Given the description of an element on the screen output the (x, y) to click on. 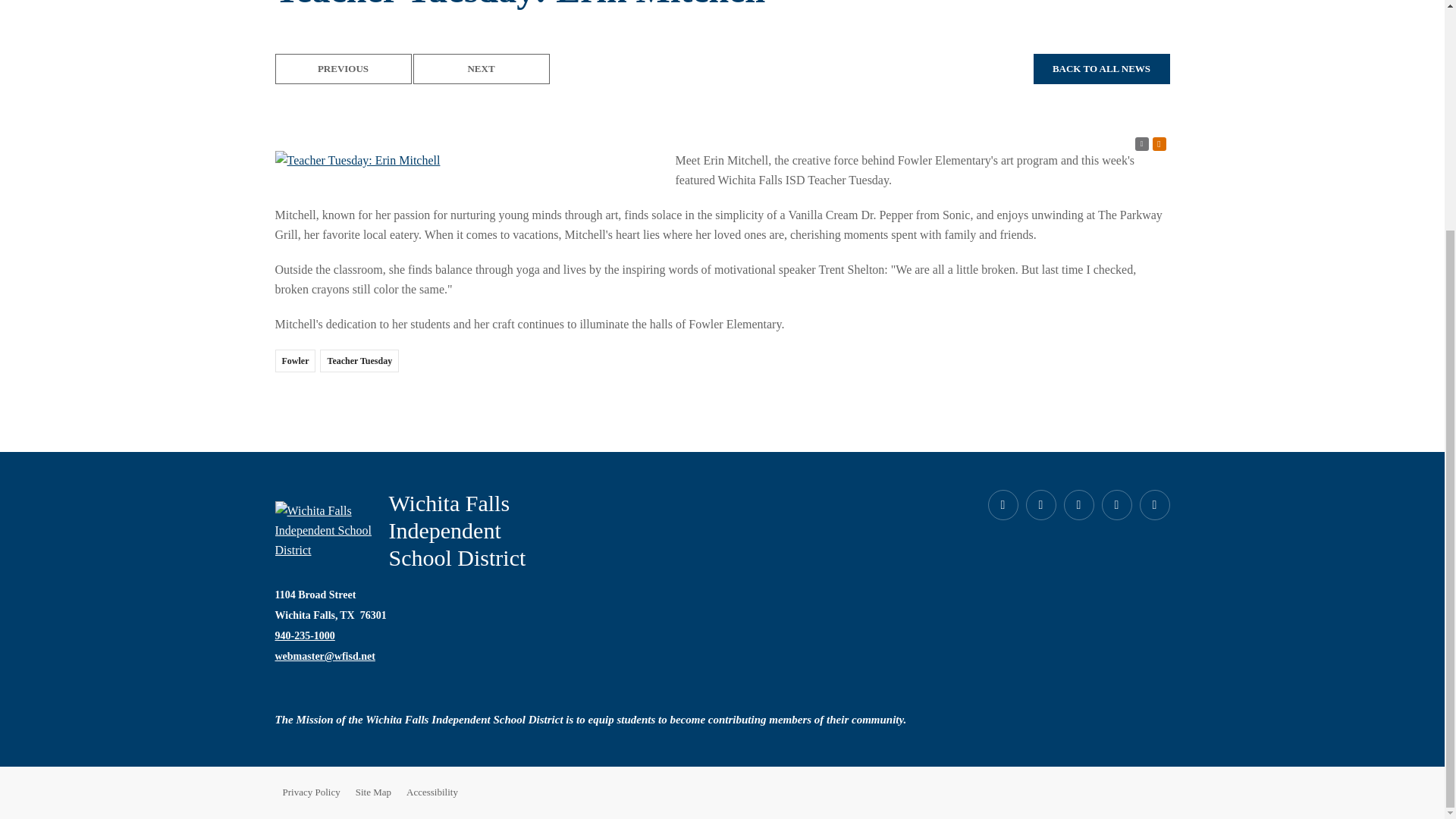
Alerts (1159, 143)
RSS (1141, 143)
Powered by Finalsite opens in a new window (1118, 791)
Email (324, 655)
